Given the description of an element on the screen output the (x, y) to click on. 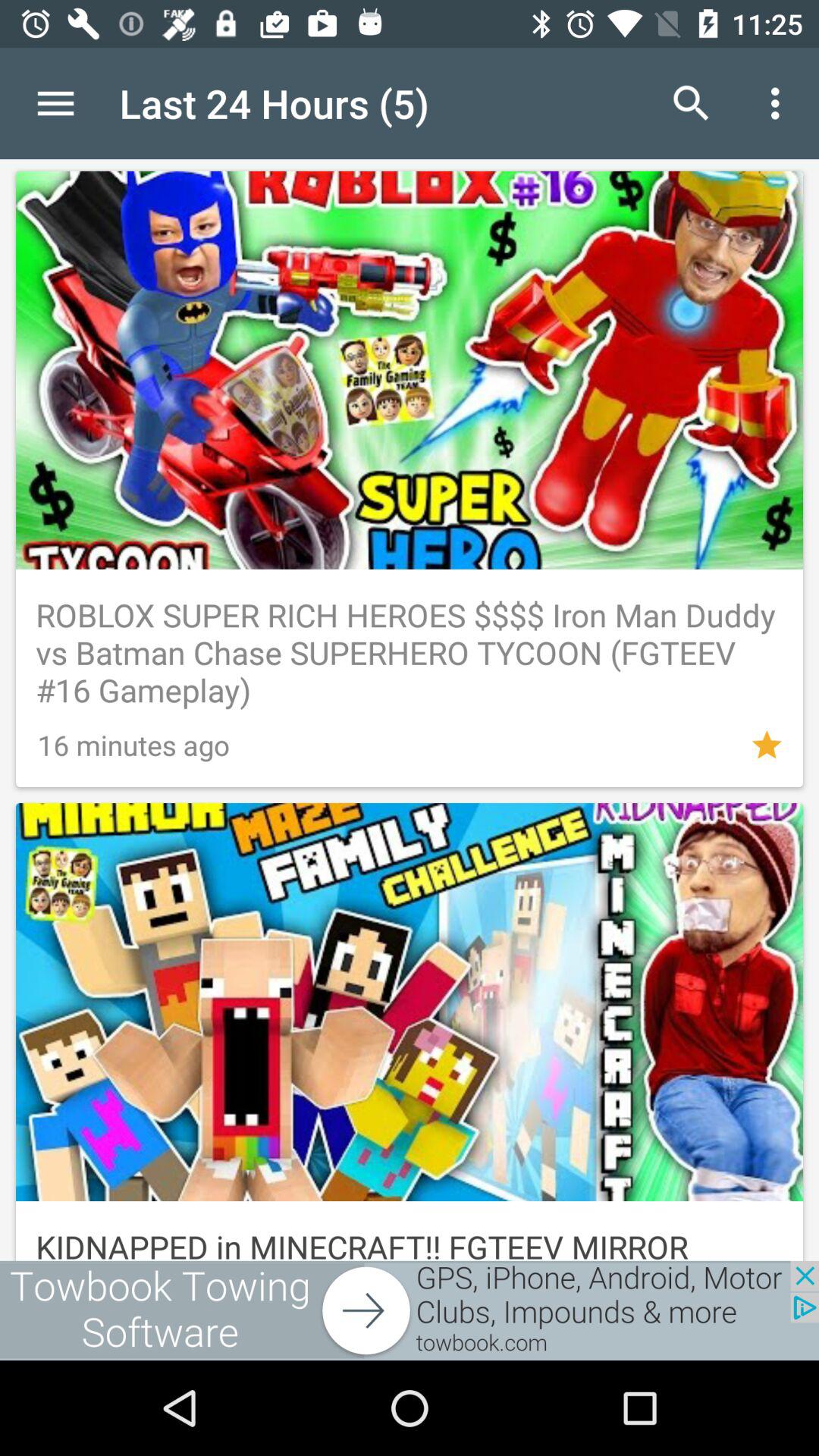
software advertisement (409, 1310)
